Given the description of an element on the screen output the (x, y) to click on. 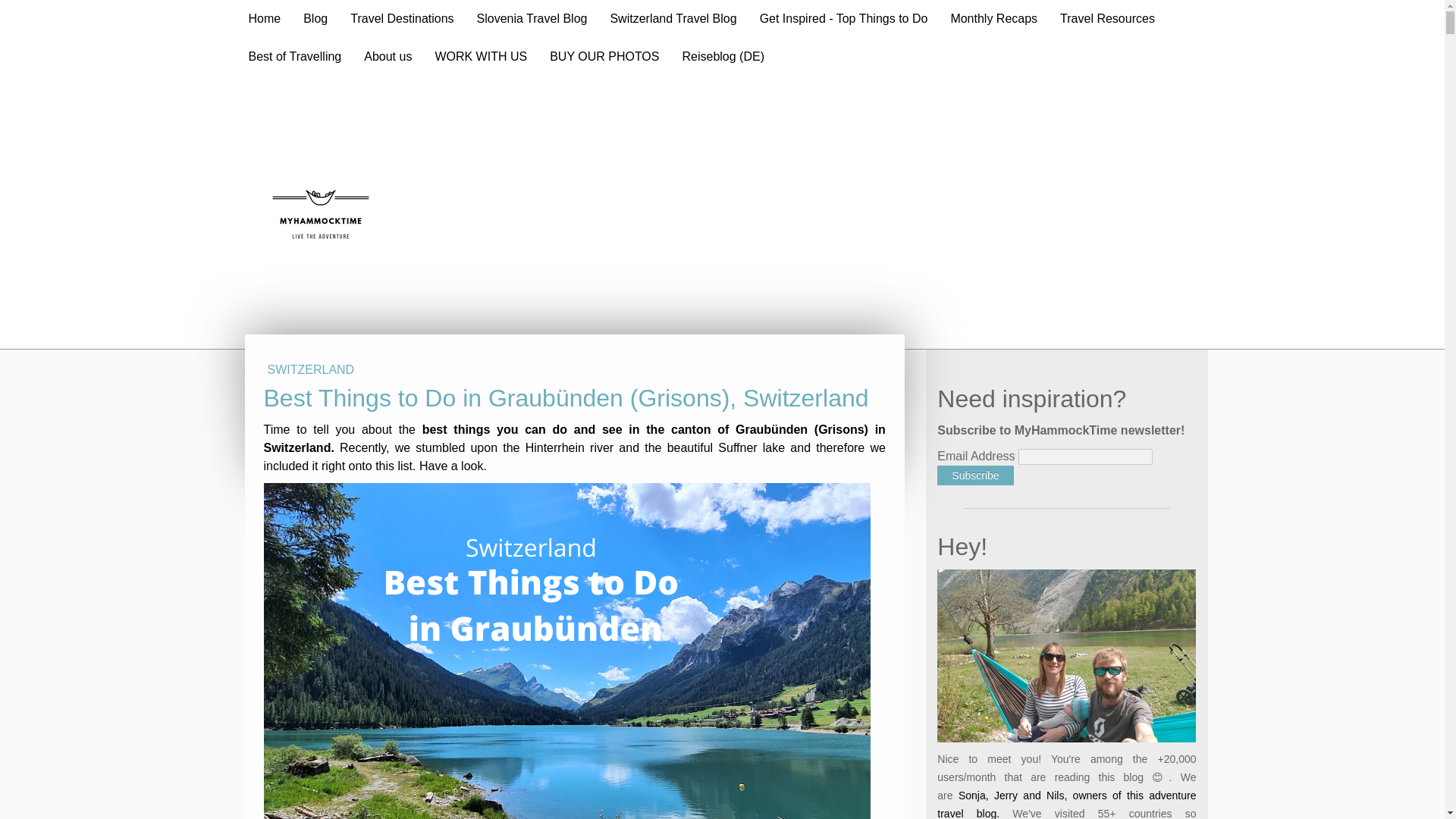
Subscribe (975, 475)
Home (263, 18)
Blog (315, 18)
